Given the description of an element on the screen output the (x, y) to click on. 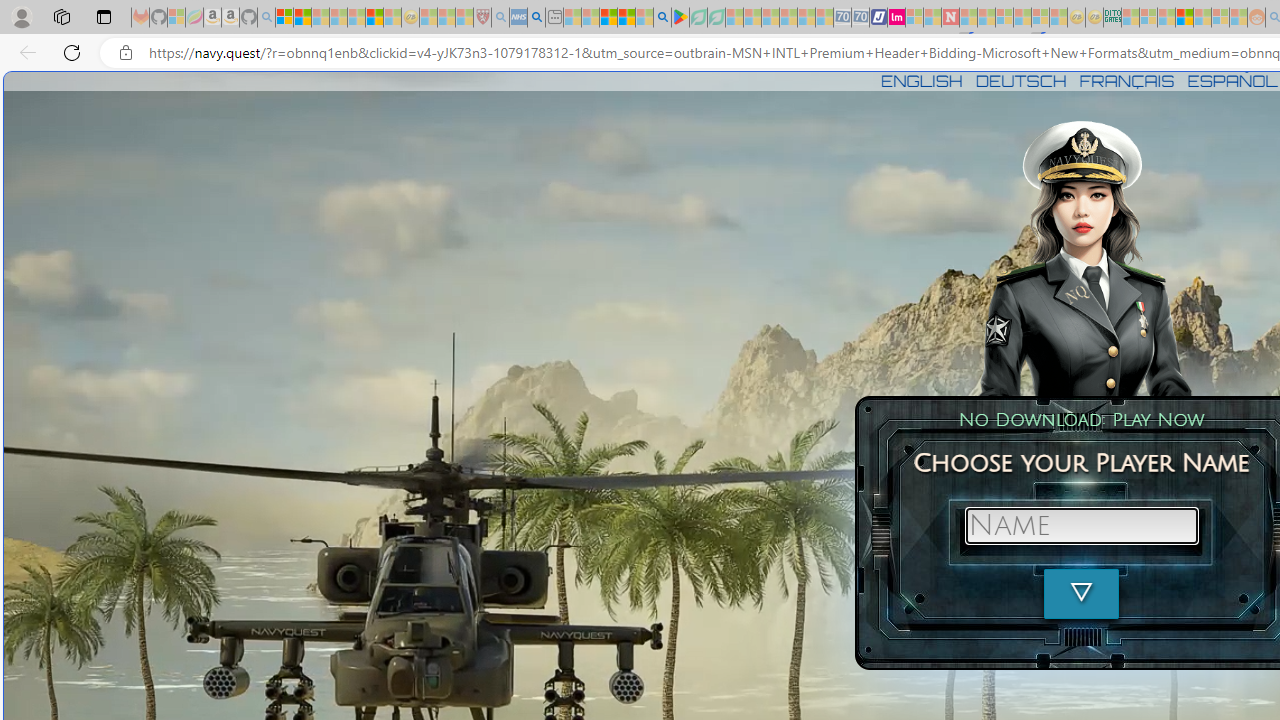
ENGLISH (921, 80)
